Given the description of an element on the screen output the (x, y) to click on. 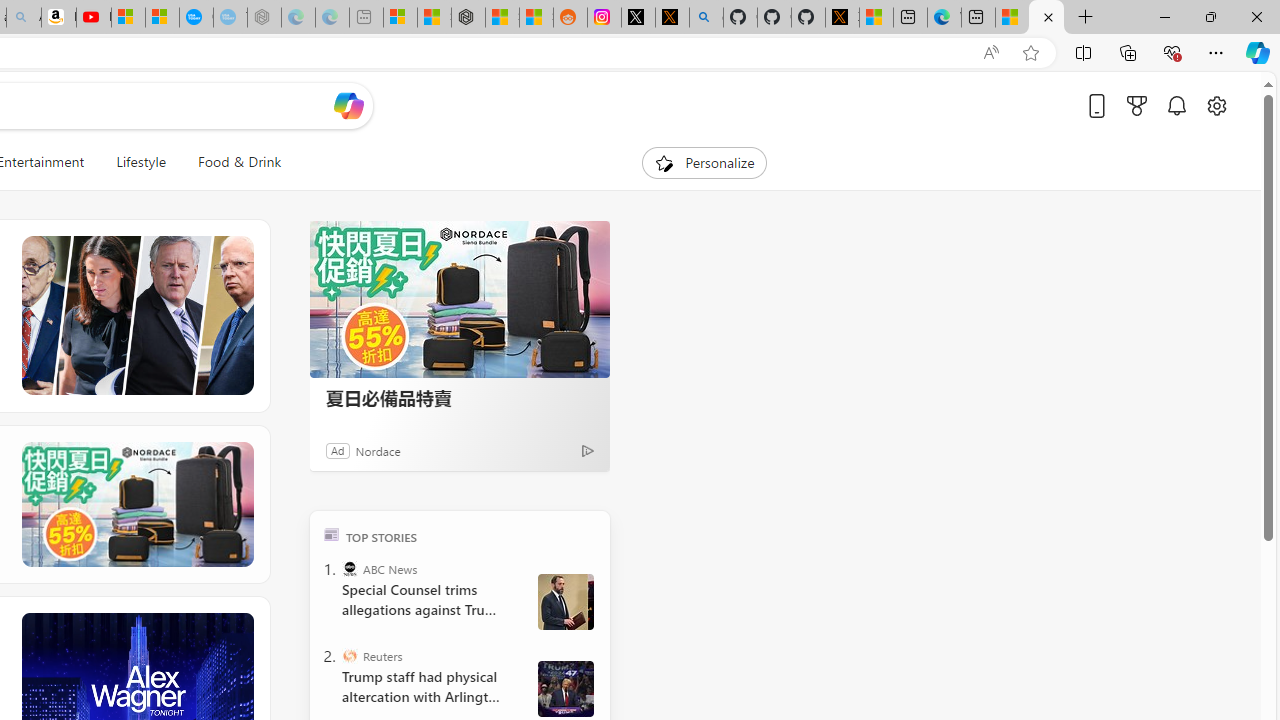
Shanghai, China Weather trends | Microsoft Weather (535, 17)
Open settings (1216, 105)
Personalize (703, 162)
